Given the description of an element on the screen output the (x, y) to click on. 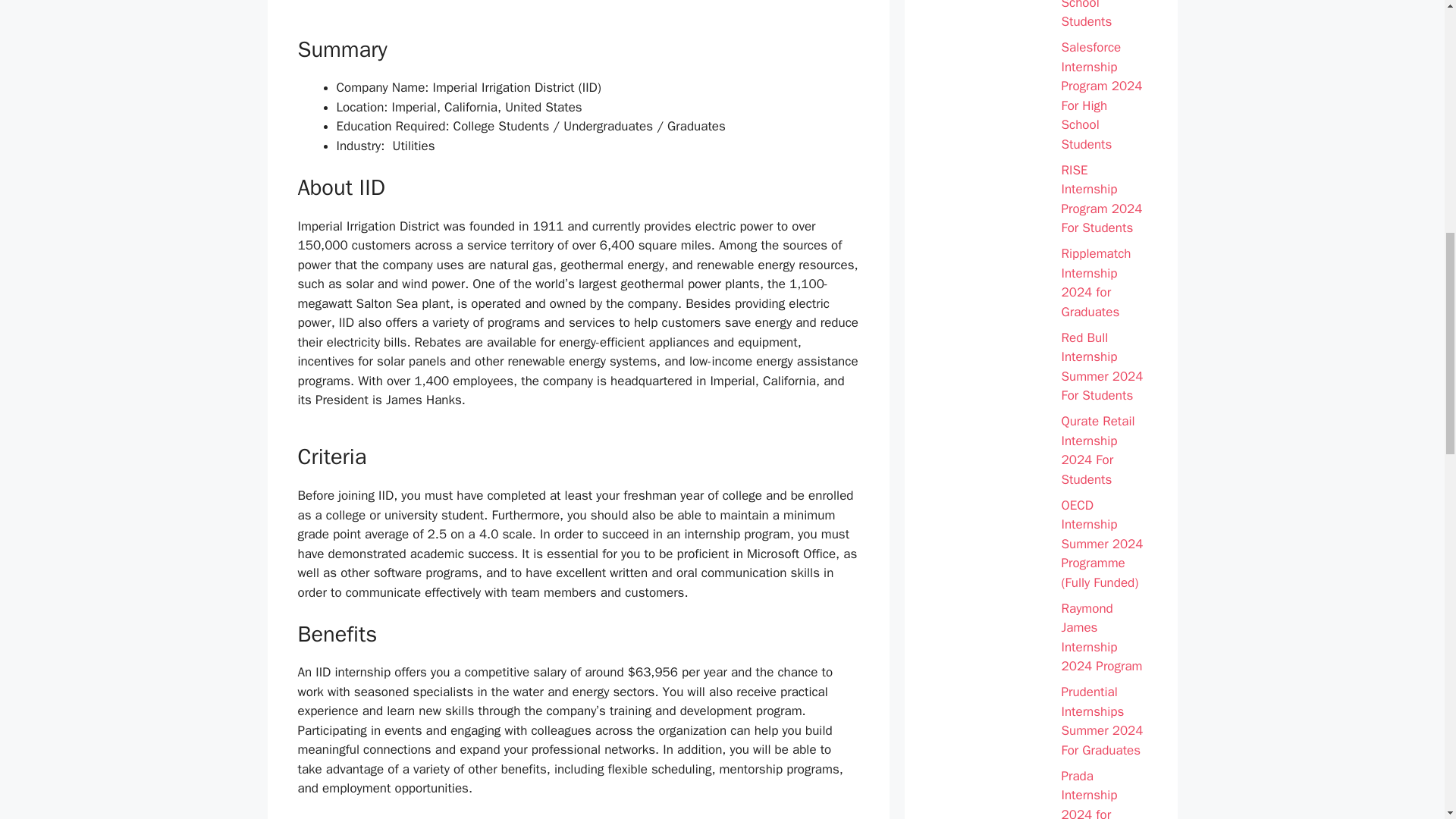
Samsung Internship Summer 2024 For High School Students (1104, 15)
RISE Internship Program 2024 For Students (1104, 199)
Ripplematch Internship 2024 for Graduates (1104, 282)
Red Bull Internship Summer 2024 For Students (1104, 366)
Qurate Retail Internship 2024 For Students (1104, 449)
